Given the description of an element on the screen output the (x, y) to click on. 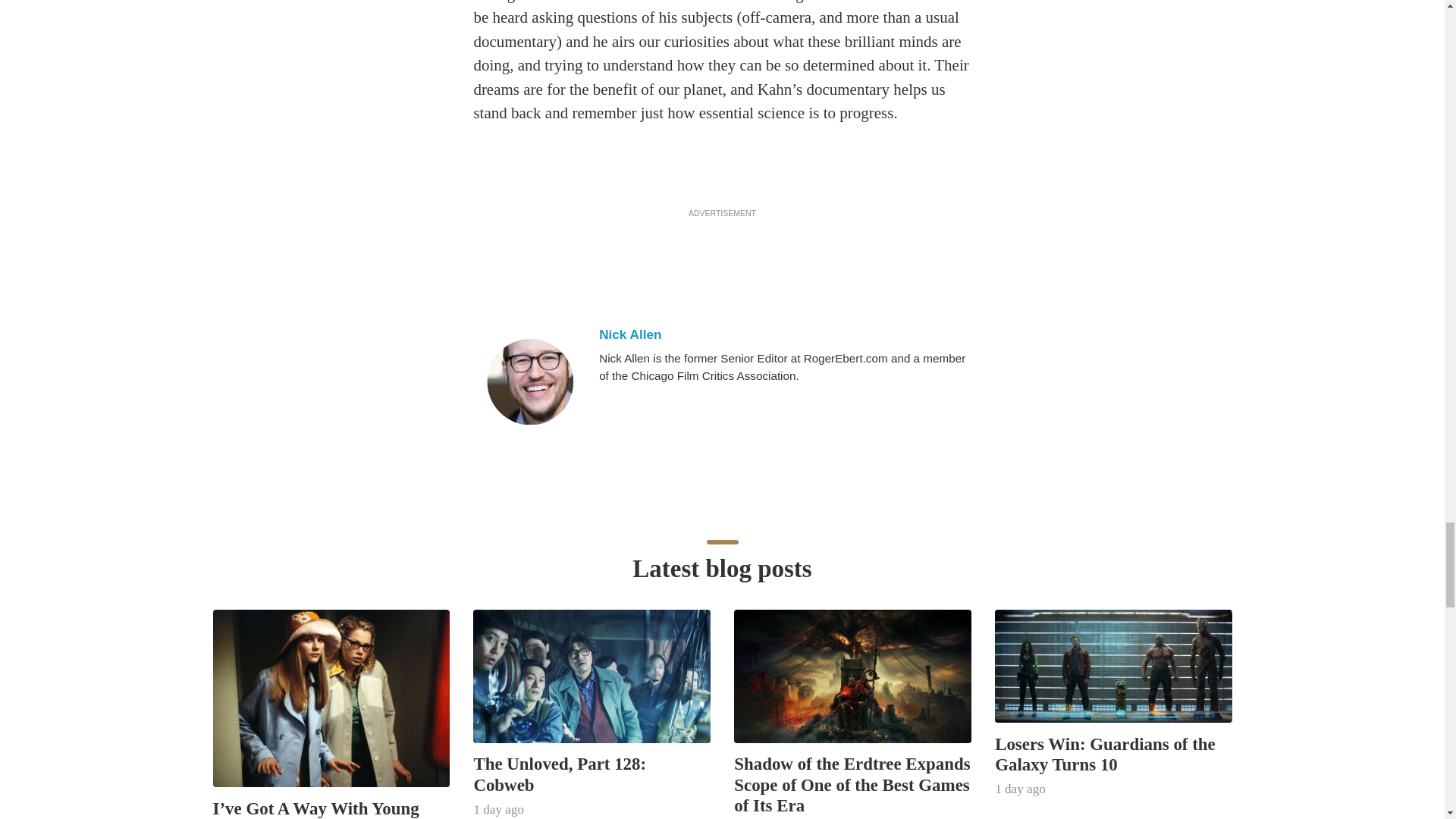
The Unloved, Part 128: Cobweb (559, 773)
Nick Allen (529, 382)
Losers Win: Guardians of the Galaxy Turns 10 (1104, 753)
Nick Allen (782, 334)
